Given the description of an element on the screen output the (x, y) to click on. 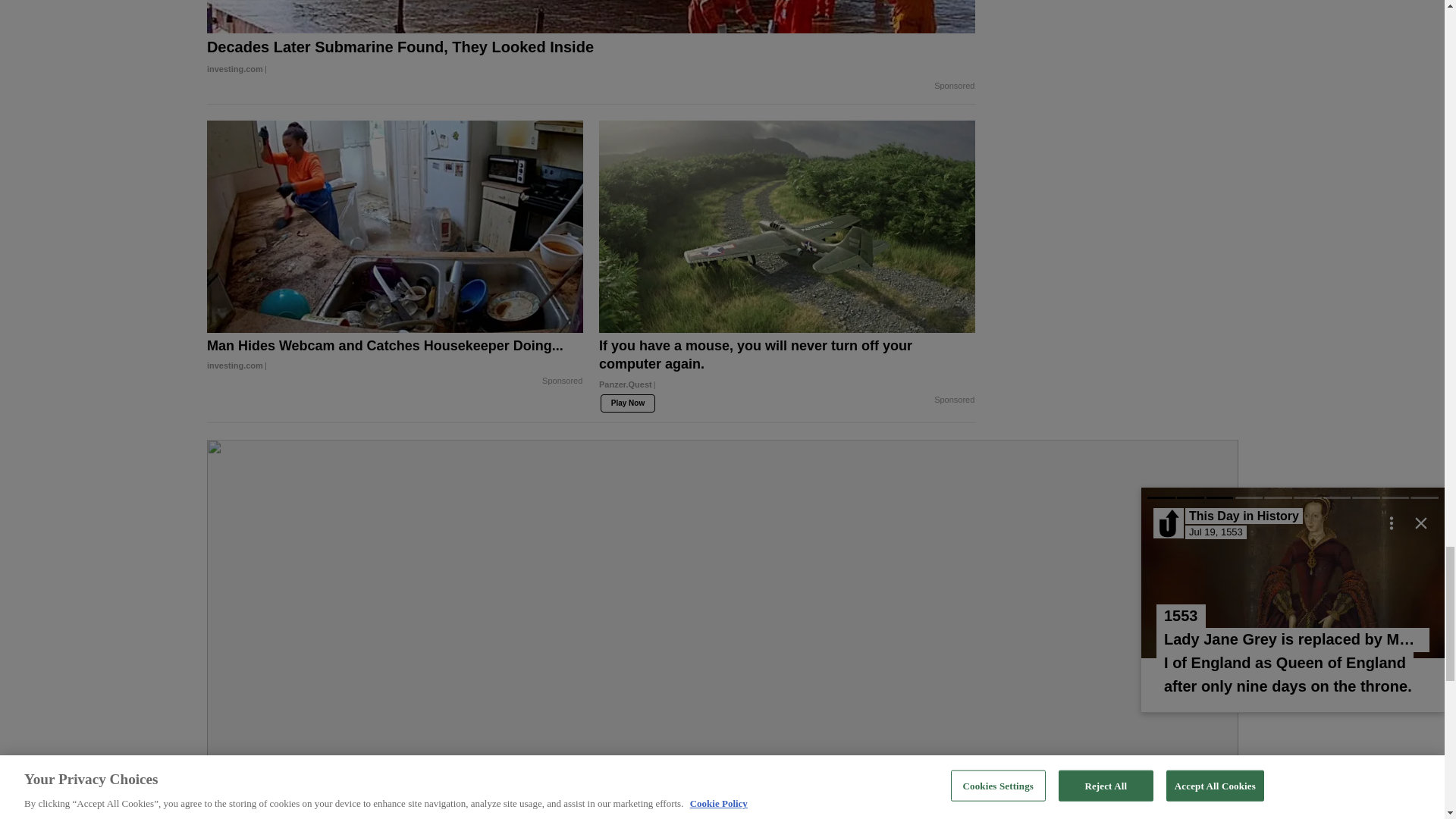
Man Hides Webcam and Catches Housekeeper Doing... (394, 355)
Decades Later Submarine Found, They Looked Inside (590, 57)
